Given the description of an element on the screen output the (x, y) to click on. 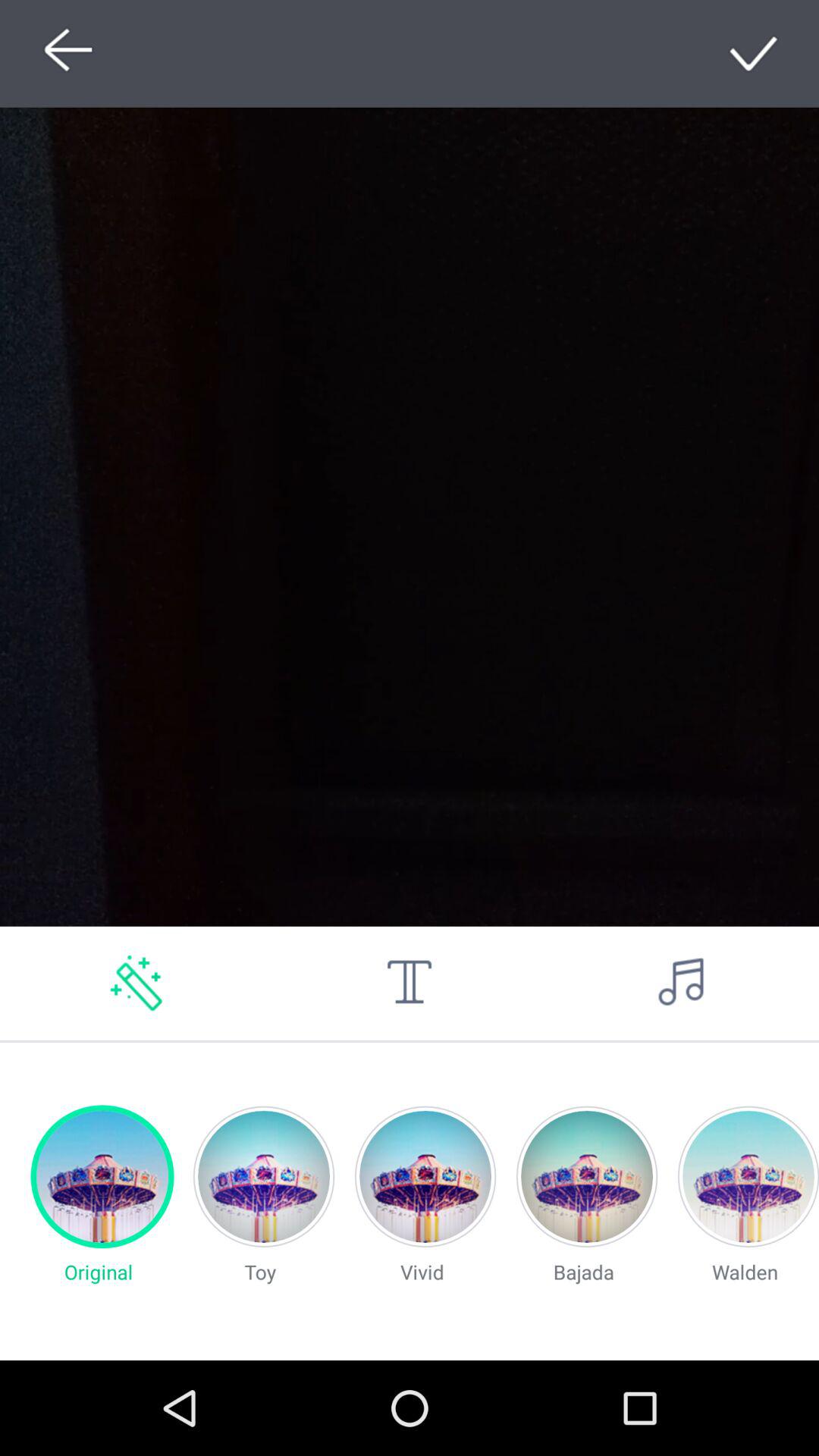
play music (682, 983)
